Given the description of an element on the screen output the (x, y) to click on. 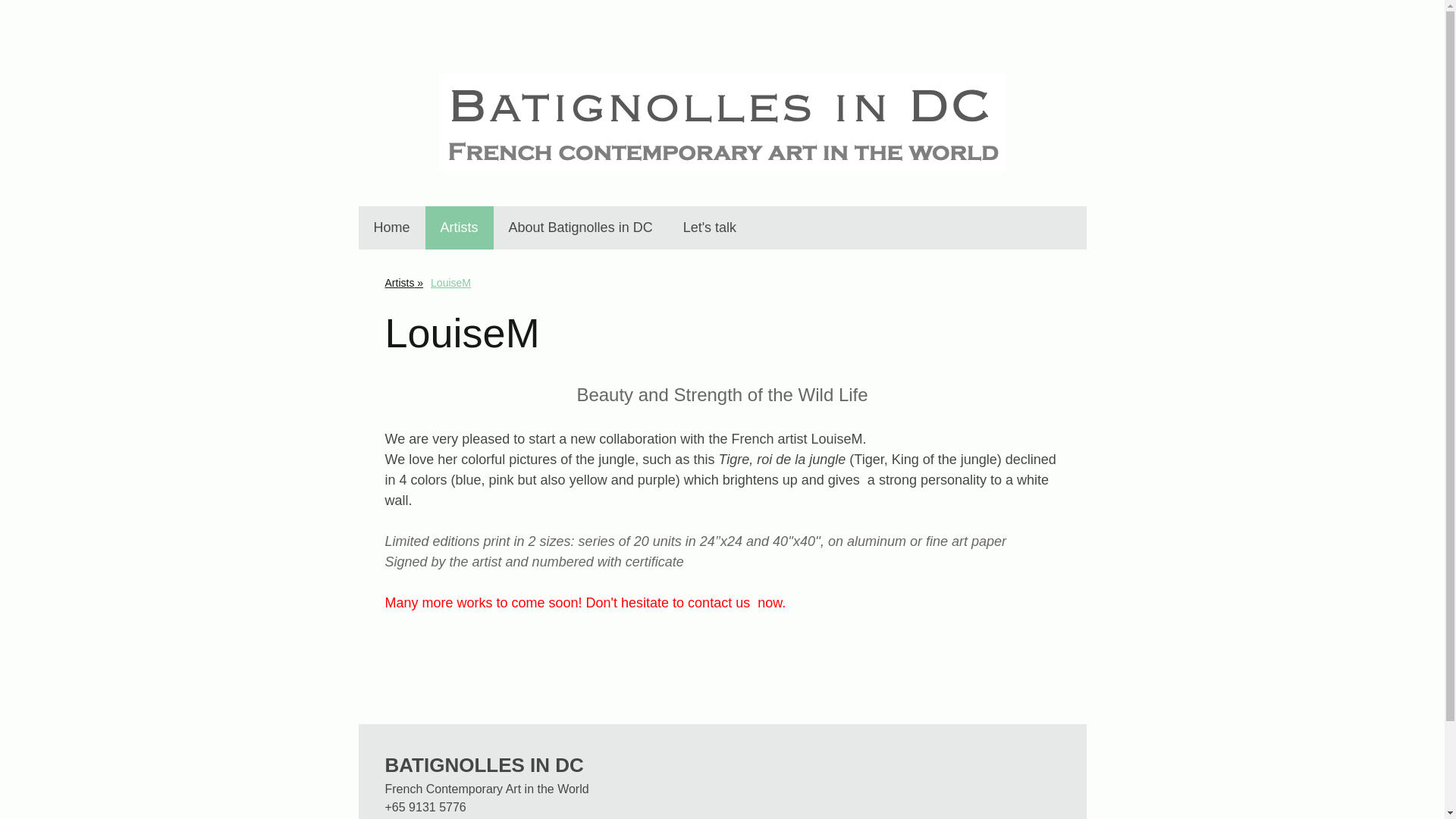
About Batignolles in DC (580, 227)
Artists (403, 282)
Artists (459, 227)
LouiseM (450, 282)
Home (391, 227)
Let's talk (709, 227)
